Given the description of an element on the screen output the (x, y) to click on. 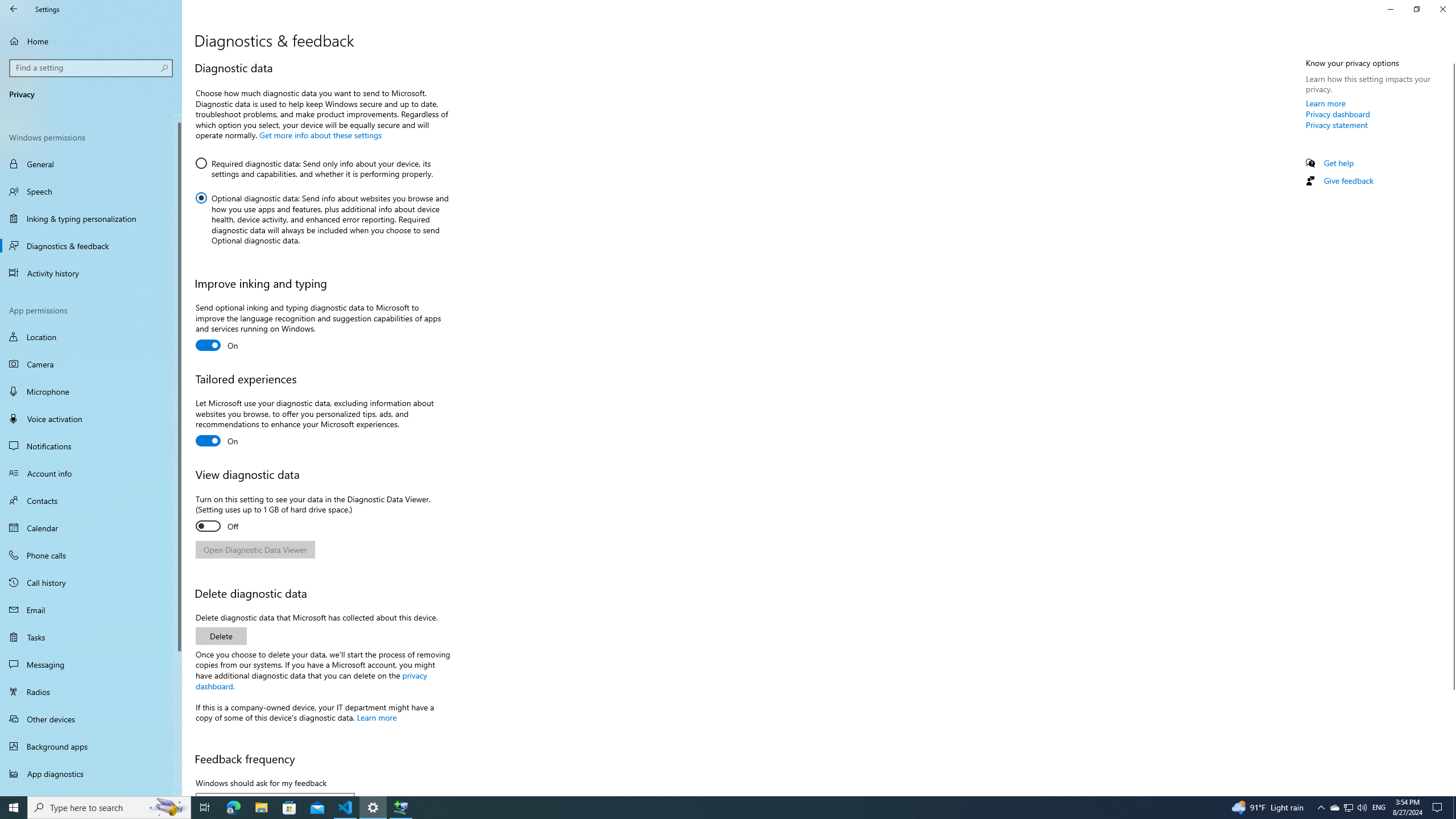
Privacy dashboard (1338, 113)
Activity history (91, 272)
File Explorer (261, 807)
Vertical Large Increase (1451, 738)
Start (13, 807)
Notification Chevron (1320, 807)
Vertical Small Increase (1451, 791)
Speech (91, 190)
Inking & typing personalization (91, 217)
Contacts (91, 500)
Task View (204, 807)
Automatic file downloads (91, 791)
